Given the description of an element on the screen output the (x, y) to click on. 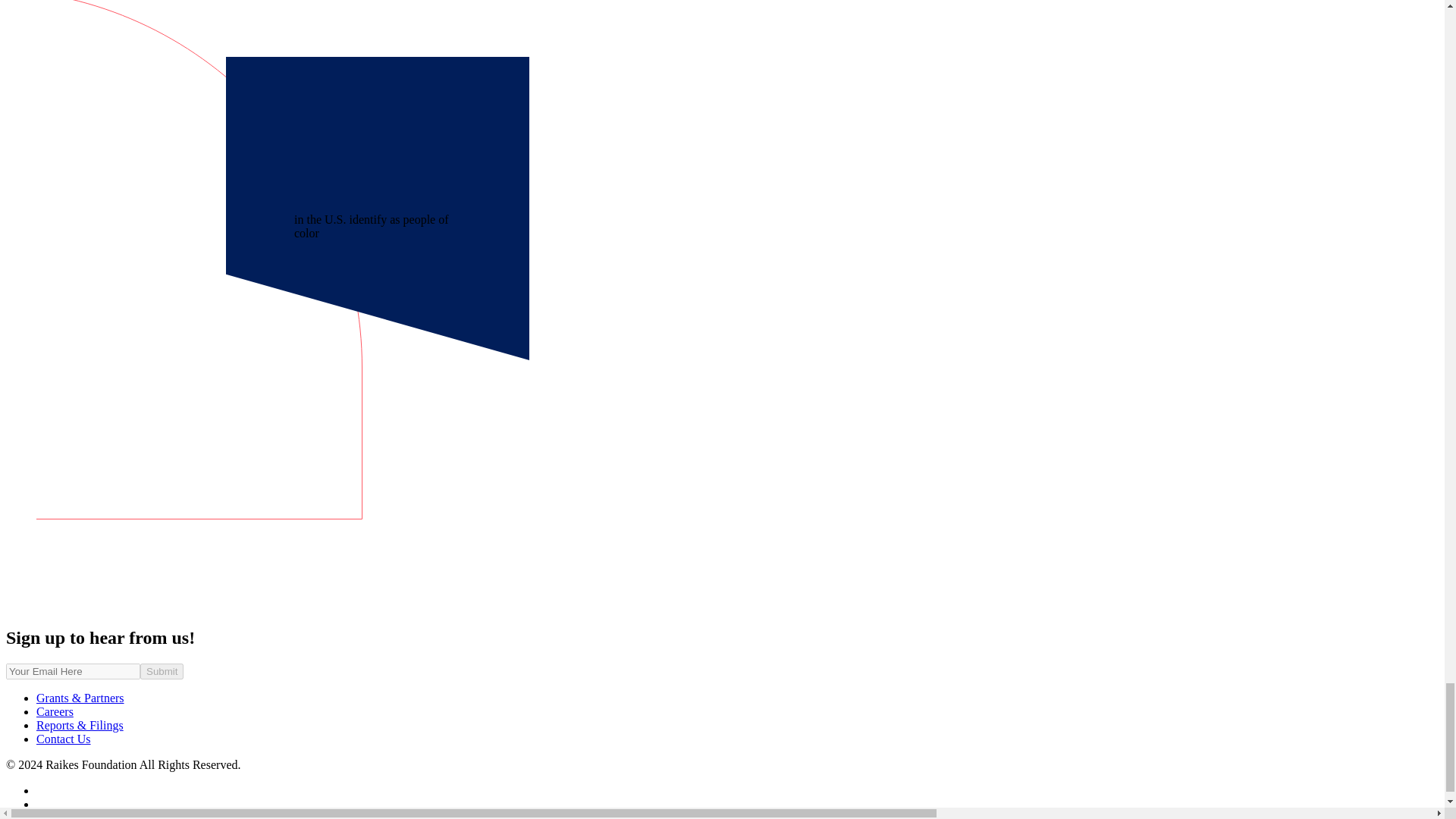
Careers (55, 711)
Contact Us (63, 738)
Submit (161, 671)
